Given the description of an element on the screen output the (x, y) to click on. 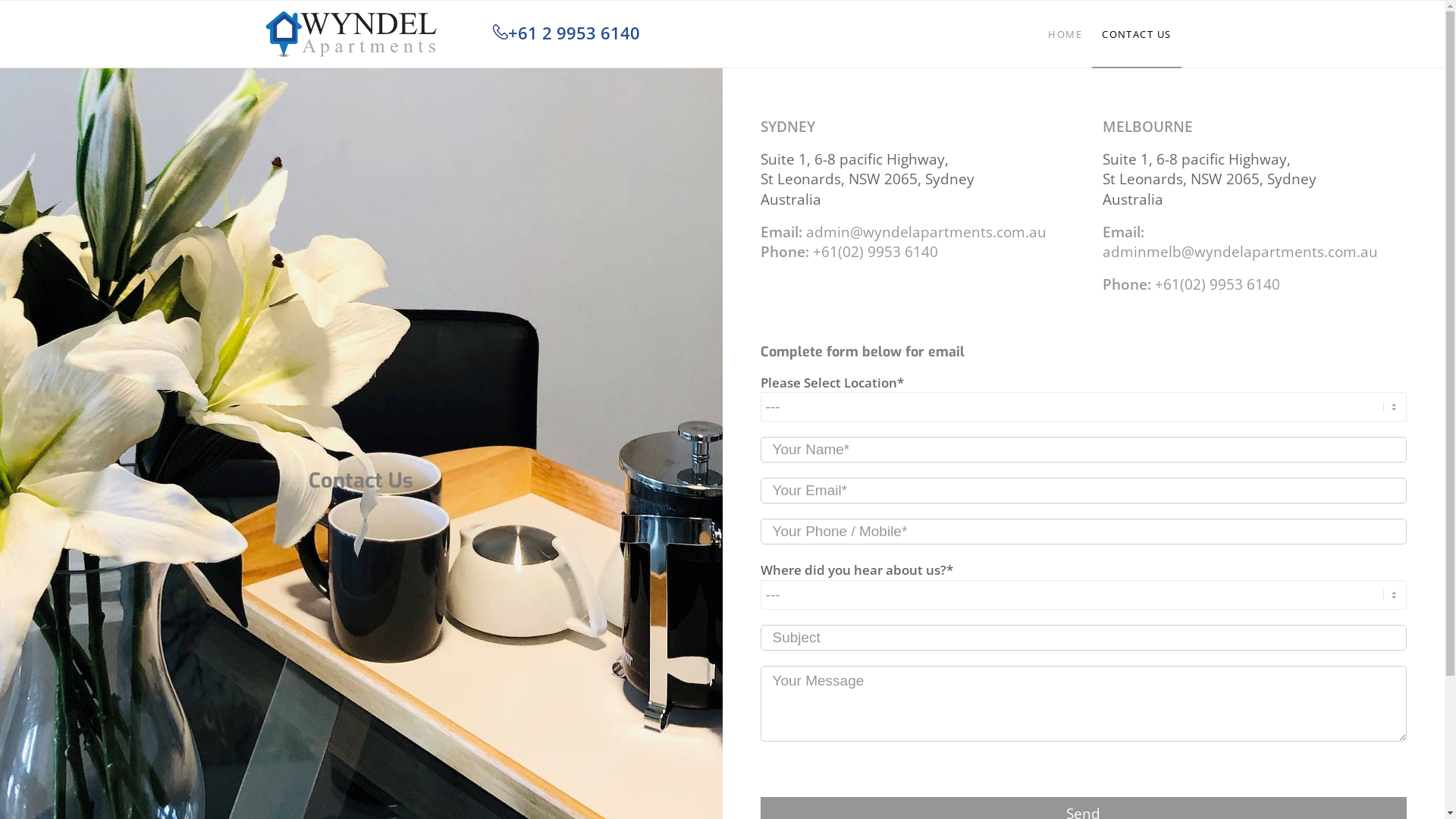
+61 2 9953 6140 Element type: text (566, 32)
+61(02) 9953 6140 Element type: text (875, 251)
HOME Element type: text (1065, 33)
adminmelb@wyndelapartments.com.au Element type: text (1239, 251)
CONTACT US Element type: text (1136, 33)
admin@wyndelapartments.com.au Element type: text (925, 231)
+61(02) 9953 6140 Element type: text (1217, 284)
